Given the description of an element on the screen output the (x, y) to click on. 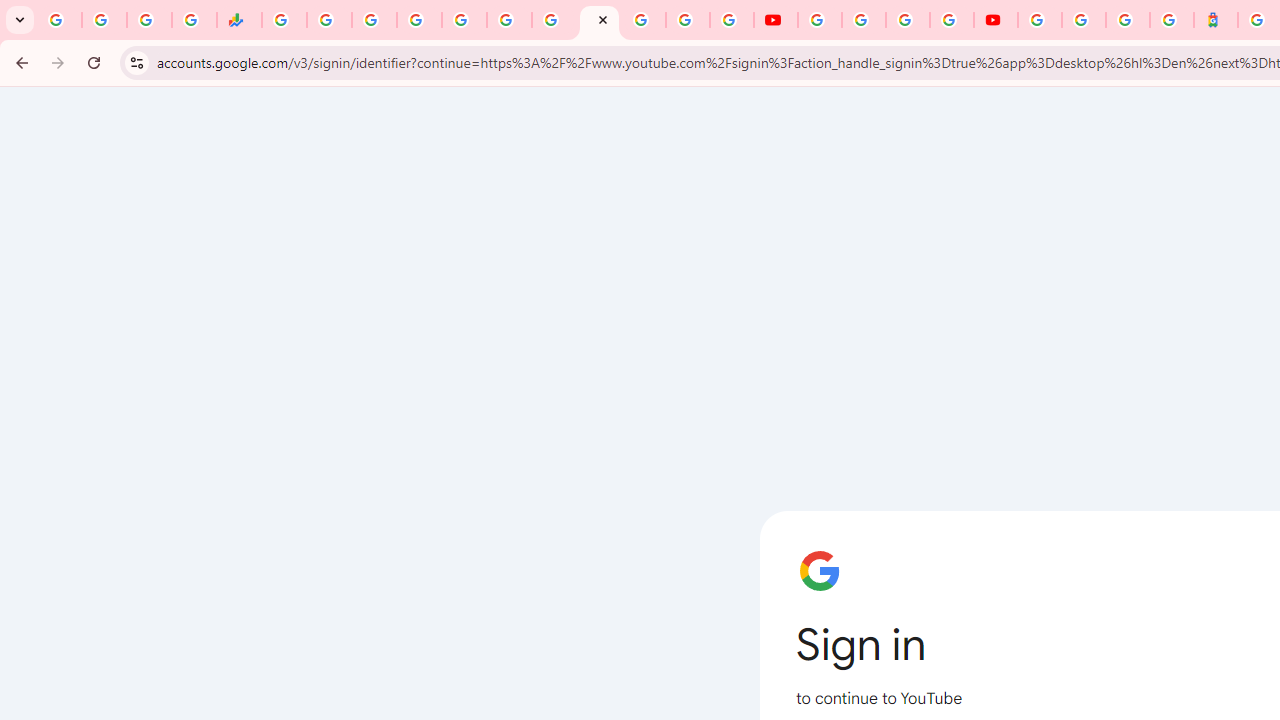
Sign in - Google Accounts (418, 20)
YouTube (599, 20)
YouTube (819, 20)
Sign in - Google Accounts (1039, 20)
Sign in - Google Accounts (1083, 20)
Privacy Checkup (731, 20)
Android TV Policies and Guidelines - Transparency Center (554, 20)
